Given the description of an element on the screen output the (x, y) to click on. 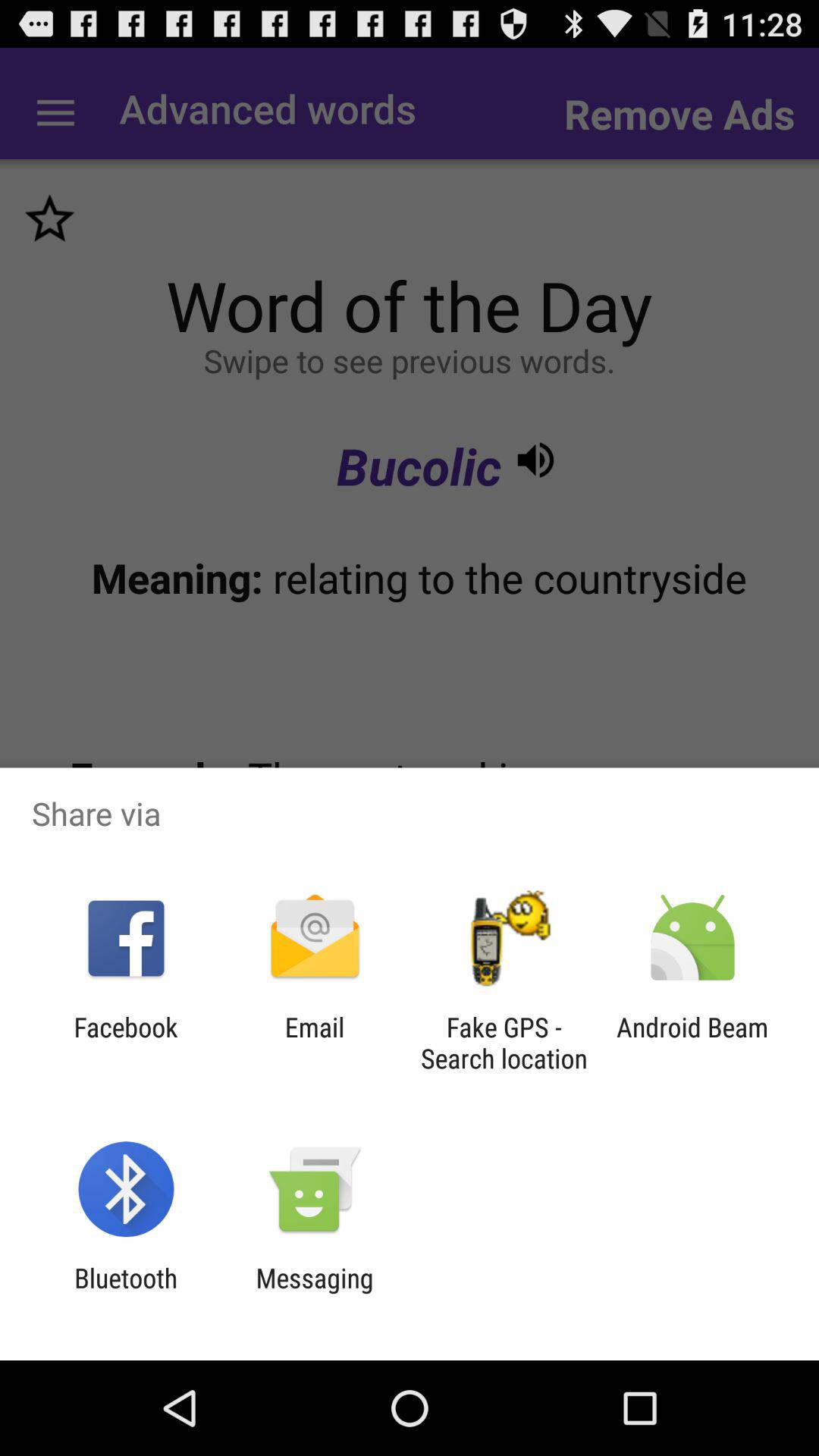
scroll until bluetooth app (125, 1293)
